Given the description of an element on the screen output the (x, y) to click on. 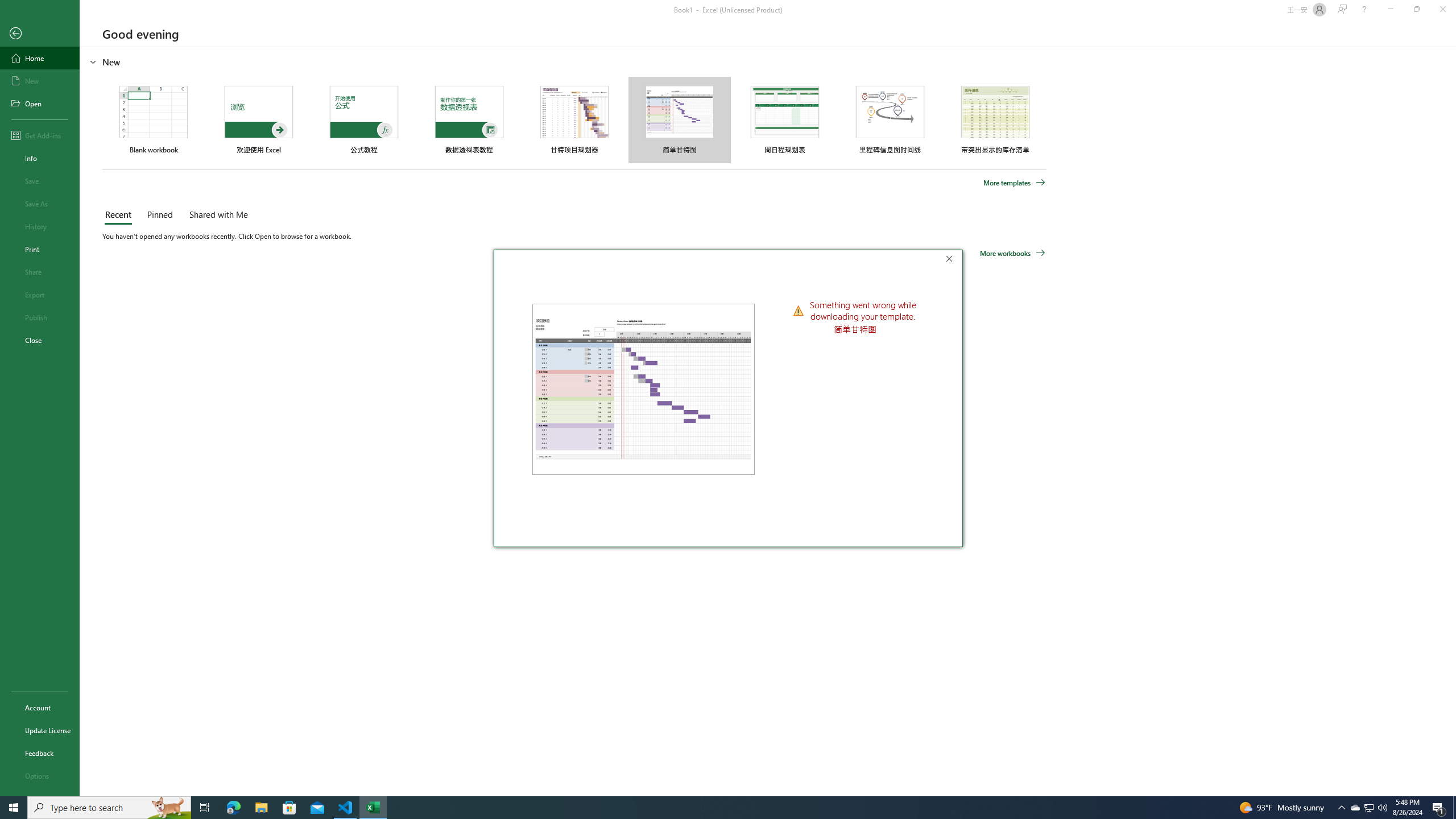
System (1355, 807)
Search highlights icon opens search home window (6, 6)
Close (167, 807)
Action Center, 1 new notification (40, 339)
Recent (1439, 807)
Notification Chevron (119, 215)
Home (1341, 807)
Get Add-ins (40, 57)
More workbooks (40, 134)
Minimize (1012, 252)
